Given the description of an element on the screen output the (x, y) to click on. 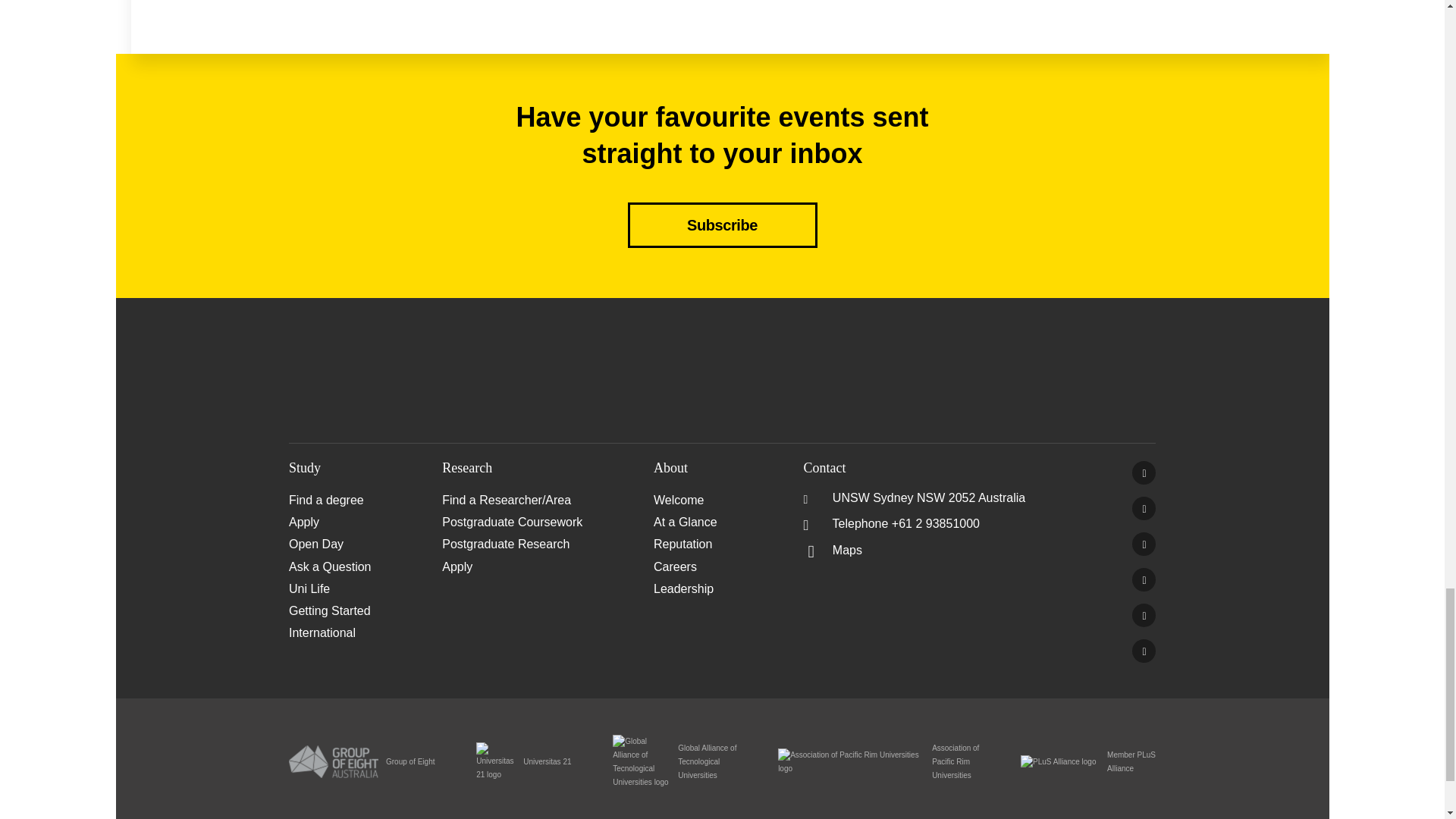
Postgraduate Research (547, 544)
Linked In (1144, 544)
UNSW Sydney (1144, 650)
Open Day (365, 544)
Universitas 21 (523, 762)
Maps (832, 549)
Apply (547, 566)
Youtube (1144, 579)
Ask a Question (365, 566)
Leadership (720, 588)
